Given the description of an element on the screen output the (x, y) to click on. 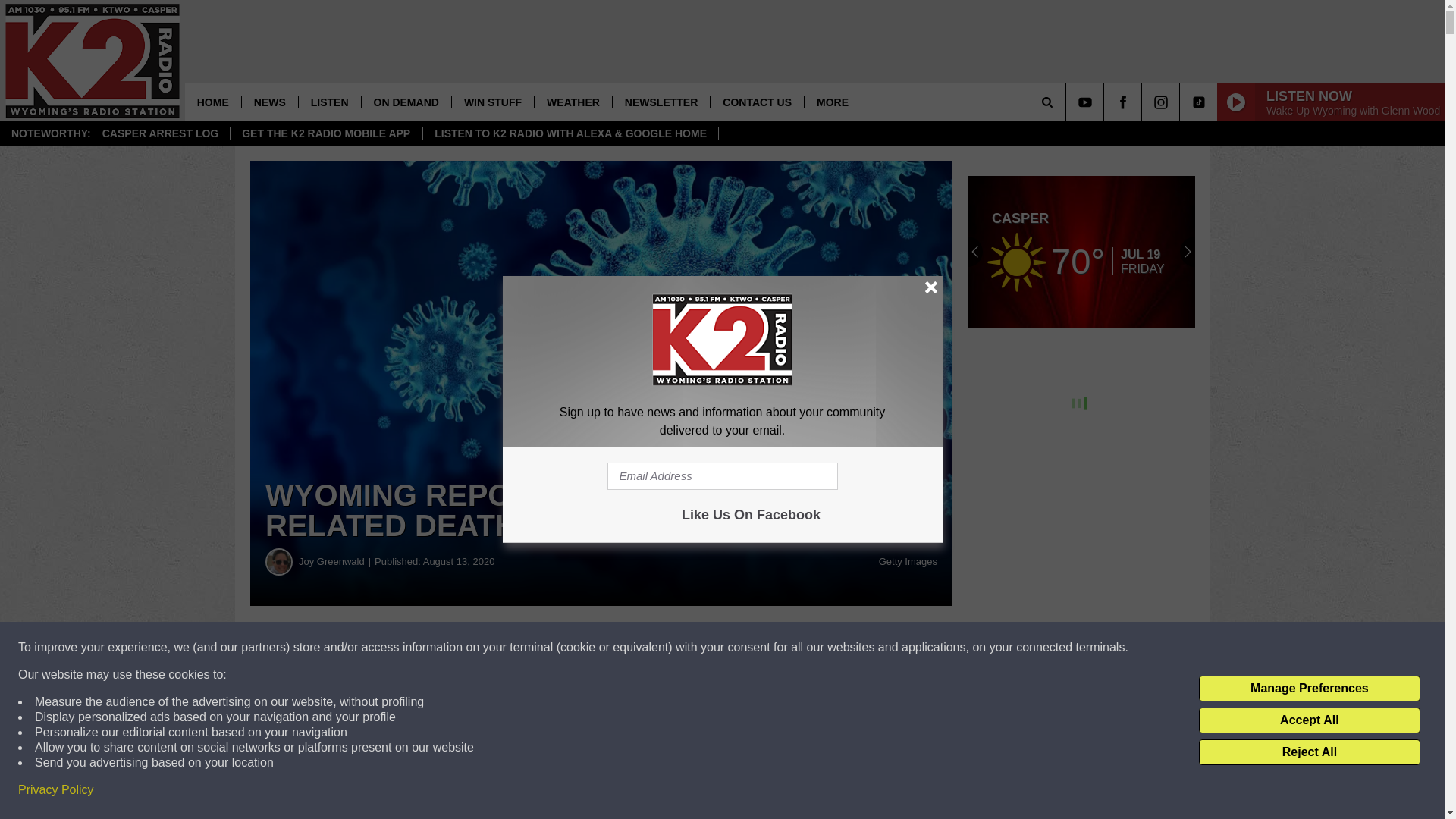
SEARCH (1068, 102)
CASPER ARREST LOG (160, 133)
Share on Twitter (741, 647)
NEWSLETTER (660, 102)
WEATHER (572, 102)
SEARCH (1068, 102)
ON DEMAND (406, 102)
Reject All (1309, 751)
HOME (212, 102)
Accept All (1309, 720)
Privacy Policy (55, 789)
Share on Facebook (460, 647)
GET THE K2 RADIO MOBILE APP (326, 133)
LISTEN (329, 102)
Casper Weather (1081, 251)
